Given the description of an element on the screen output the (x, y) to click on. 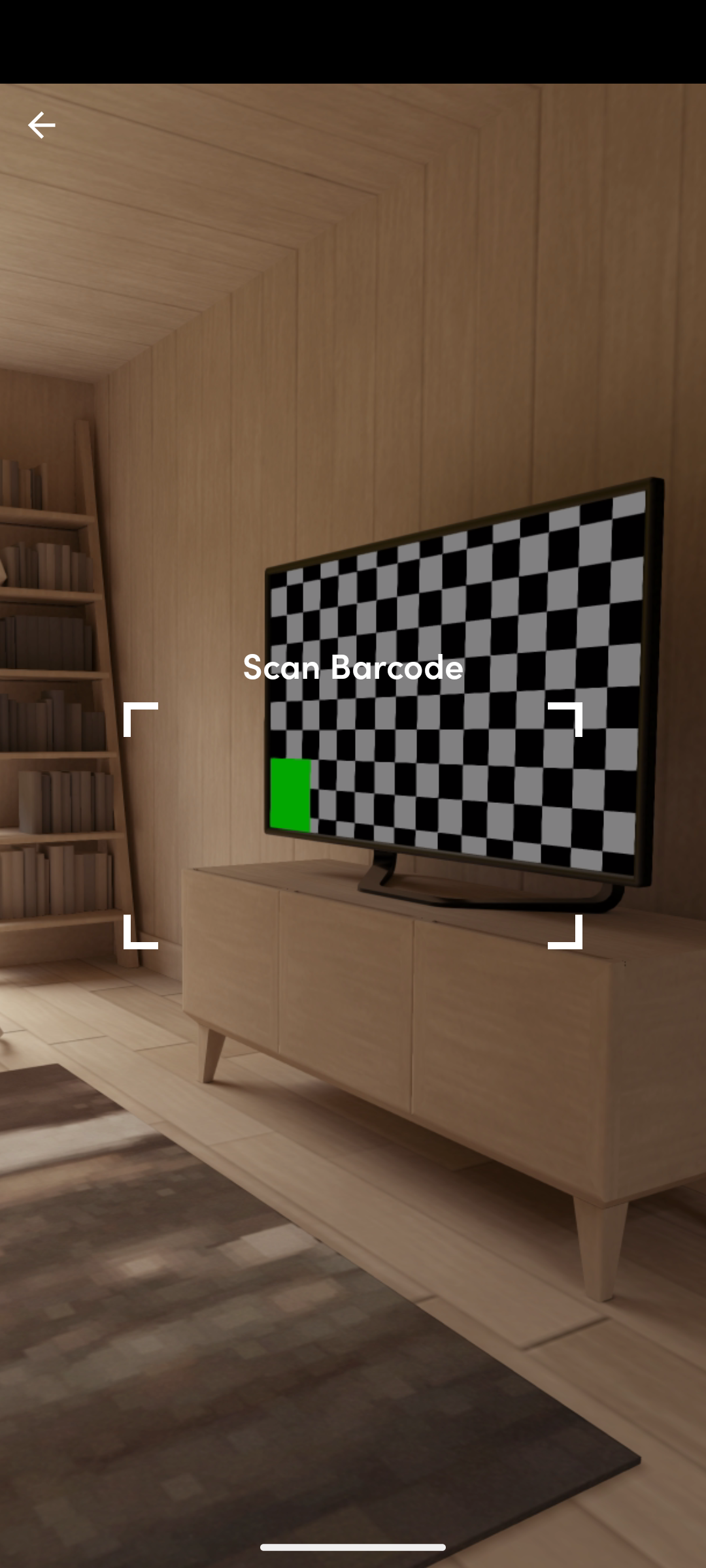
top_left_action (41, 125)
